Given the description of an element on the screen output the (x, y) to click on. 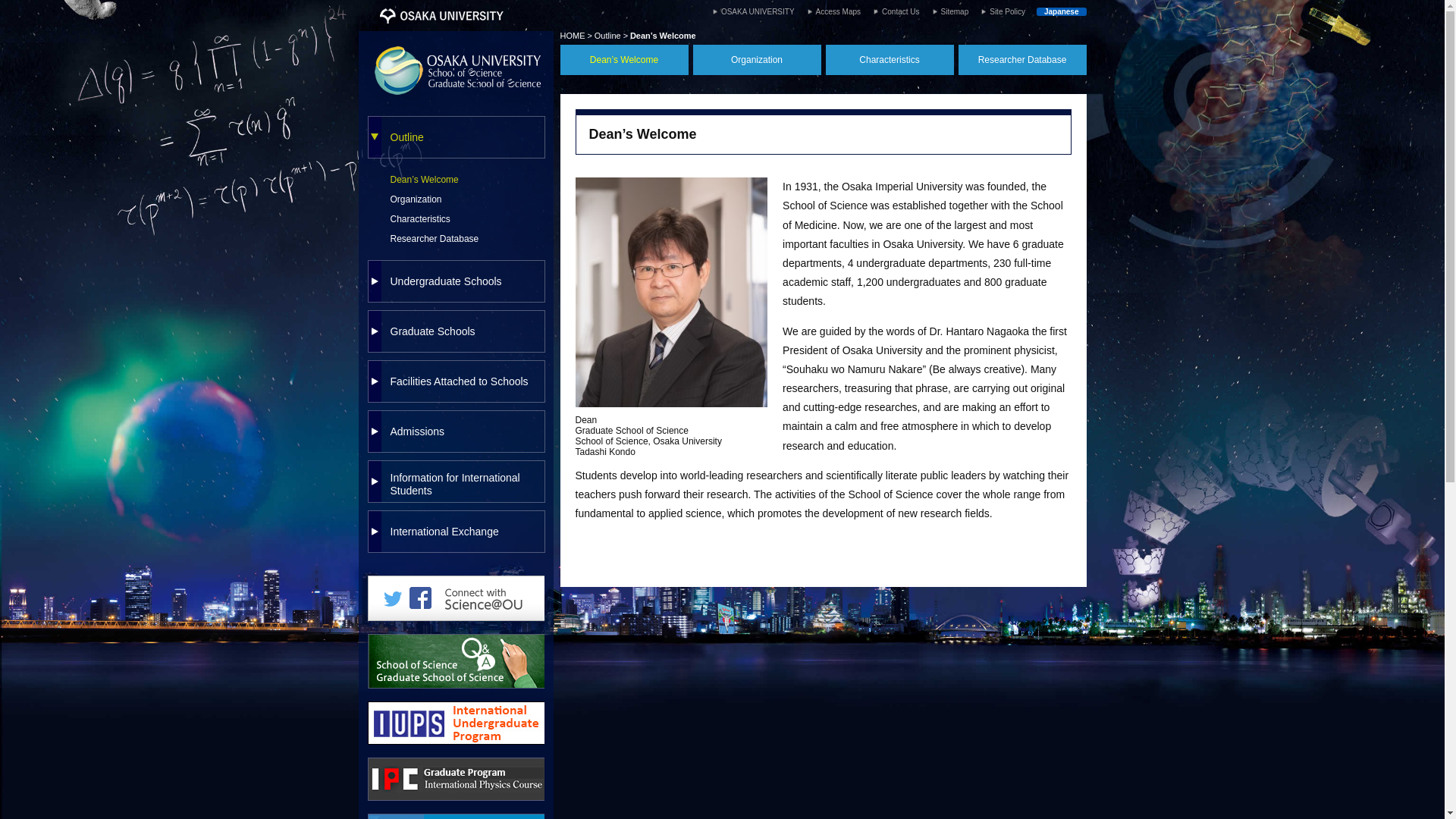
Access Maps (831, 11)
Admissions (455, 431)
Organization (455, 199)
Japanese (1061, 11)
Undergraduate Schools (455, 281)
Graduate Schools (455, 331)
Facilities Attached to Schools (455, 381)
Information for International Students (455, 481)
Site Policy (1000, 11)
Researcher Database (455, 238)
Outline (455, 137)
OSAKA UNIVERSITY (750, 11)
Characteristics (455, 218)
Contact Us (892, 11)
Sitemap (948, 11)
